Given the description of an element on the screen output the (x, y) to click on. 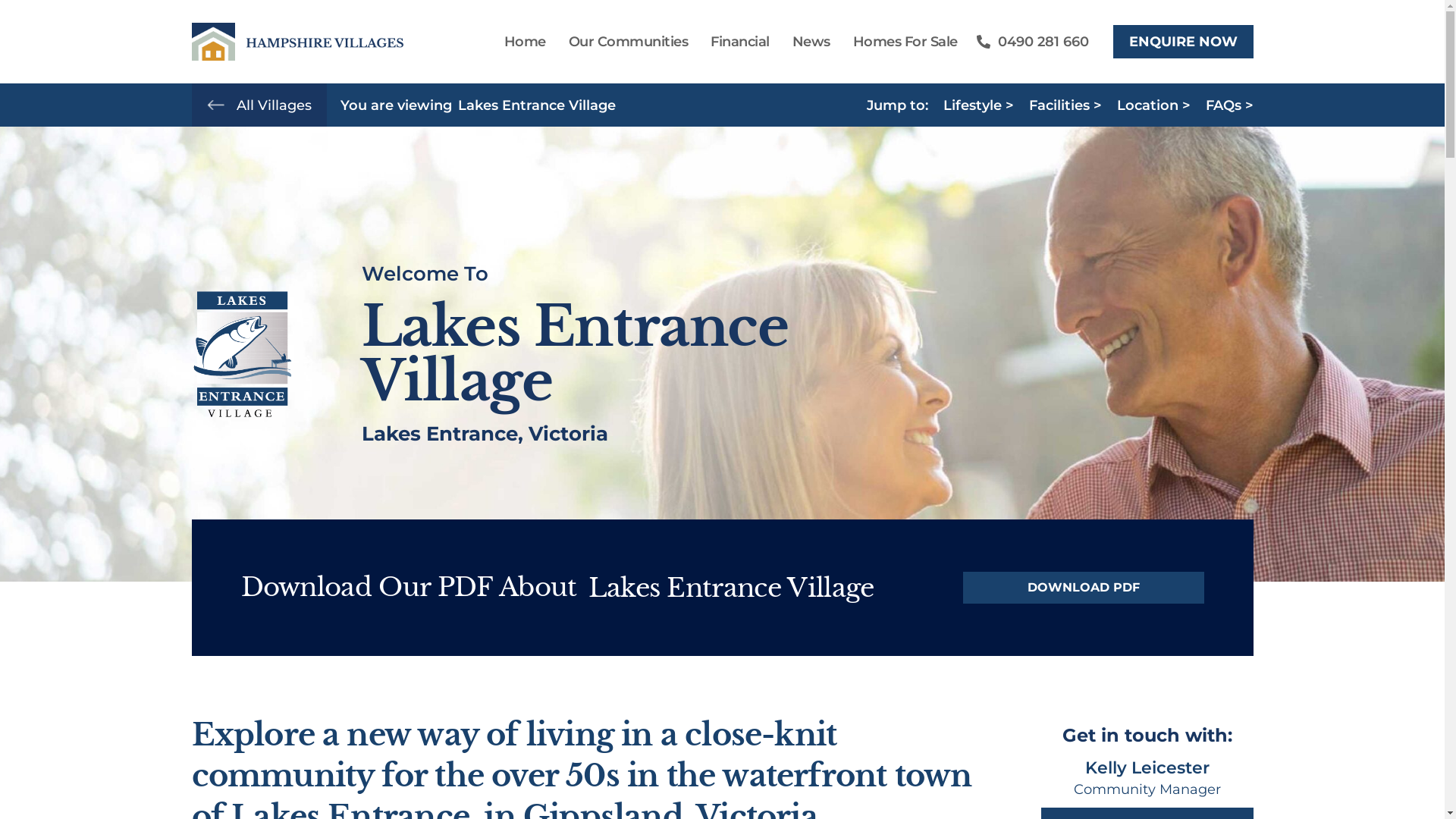
ENQUIRE NOW Element type: text (1183, 41)
DOWNLOAD PDF Element type: text (1083, 587)
Our Communities Element type: text (627, 41)
All Villages Element type: text (273, 105)
Location > Element type: text (1152, 104)
Home Element type: text (524, 41)
Facilities > Element type: text (1064, 104)
FAQs > Element type: text (1229, 104)
News Element type: text (811, 41)
0490 281 660 Element type: text (1032, 41)
Financial Element type: text (740, 41)
Skip to content Element type: text (11, 31)
Lifestyle > Element type: text (978, 104)
Homes For Sale Element type: text (905, 41)
